Given the description of an element on the screen output the (x, y) to click on. 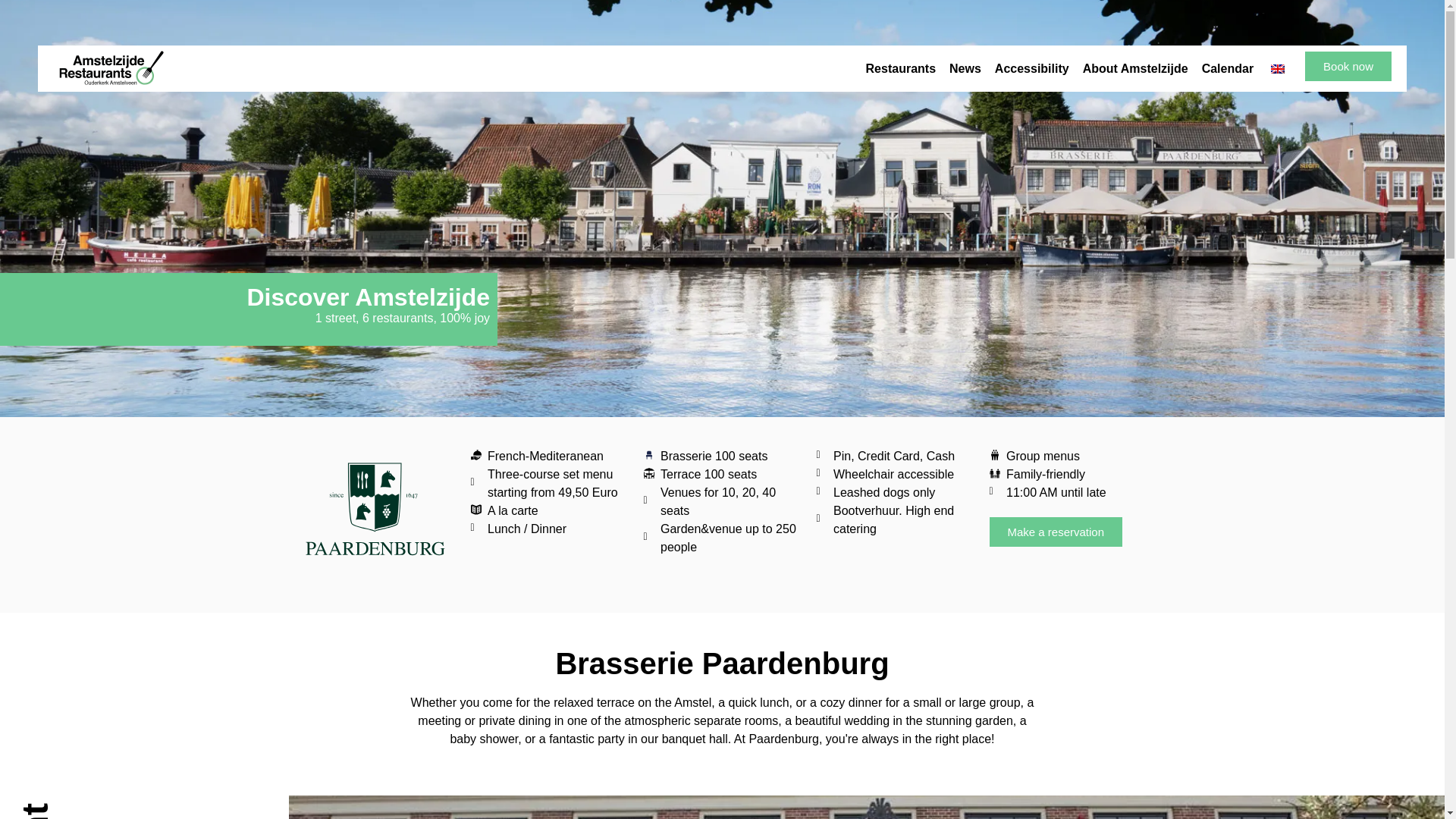
Book now (1347, 66)
English (1277, 68)
Calendar (1227, 68)
News (965, 68)
Restaurants (900, 68)
Accessibility (1031, 68)
About Amstelzijde (1135, 68)
